Given the description of an element on the screen output the (x, y) to click on. 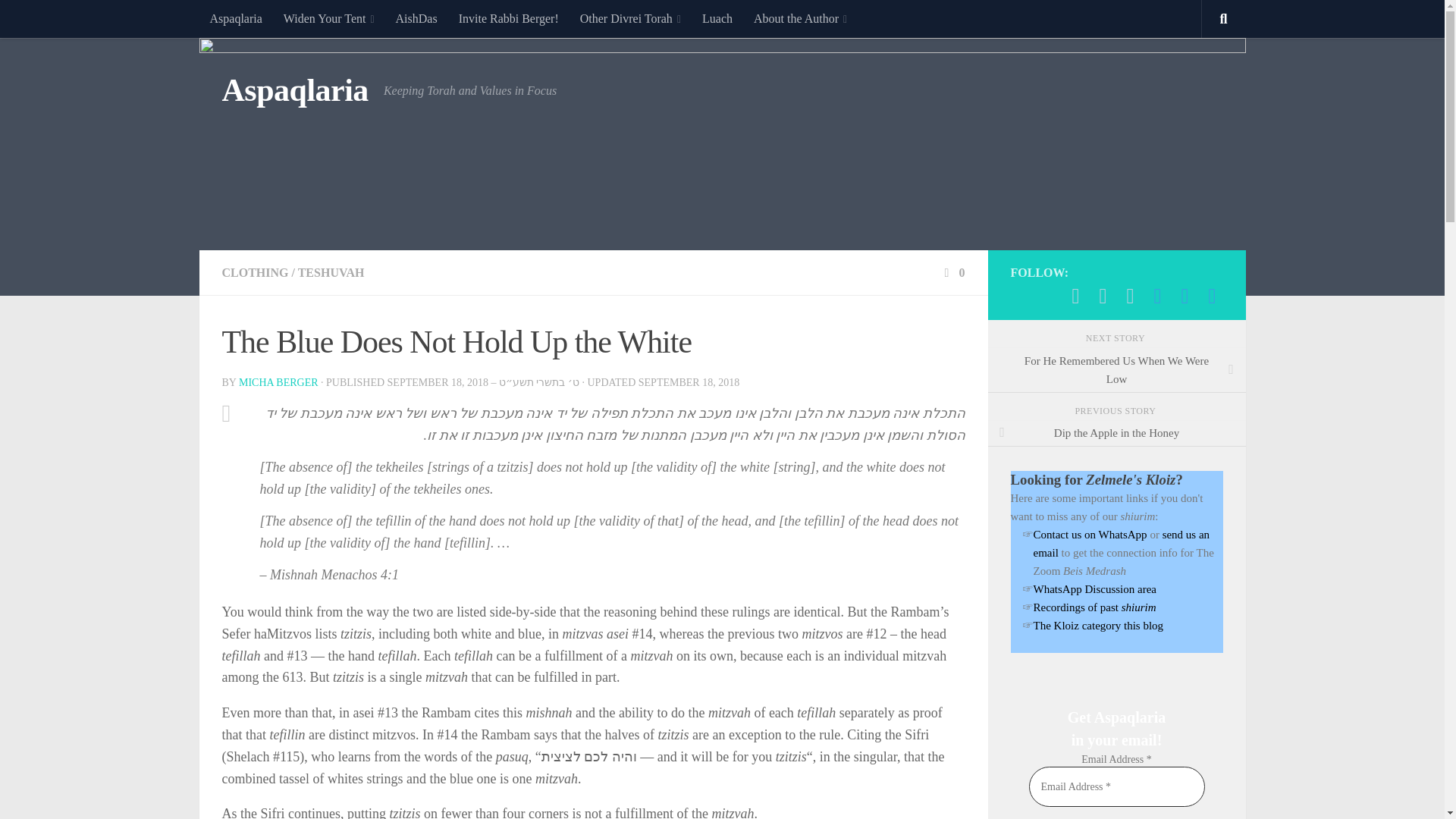
Other Divrei Torah (630, 18)
AishDas (416, 18)
Widen Your Tent (329, 18)
Posts by Micha Berger (278, 382)
Invite Rabbi Berger! (508, 18)
WhatsApp me (1075, 296)
Email! (1102, 296)
Follow me on Facebook! (1129, 296)
Luach (716, 18)
About the Author (799, 18)
